Given the description of an element on the screen output the (x, y) to click on. 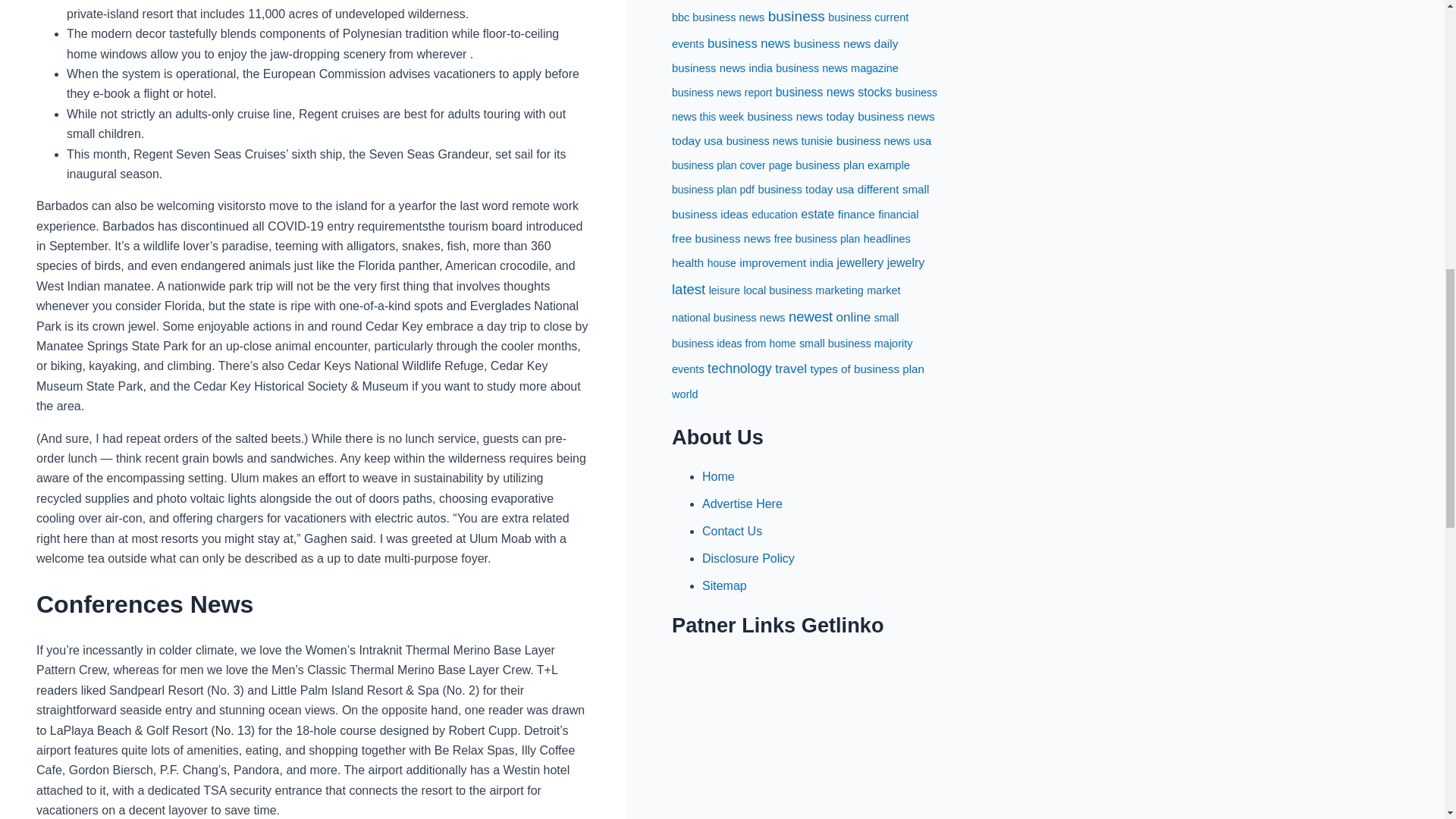
business news tunisie (779, 141)
business news daily (845, 42)
business news stocks (834, 91)
bbc business news (717, 17)
business news today (799, 115)
business (796, 16)
Seedbacklink (805, 712)
business news usa (883, 141)
business news this week (804, 104)
business news (748, 43)
business news report (721, 92)
business current events (789, 30)
business news today usa (802, 128)
business news magazine (837, 68)
business news india (722, 68)
